Given the description of an element on the screen output the (x, y) to click on. 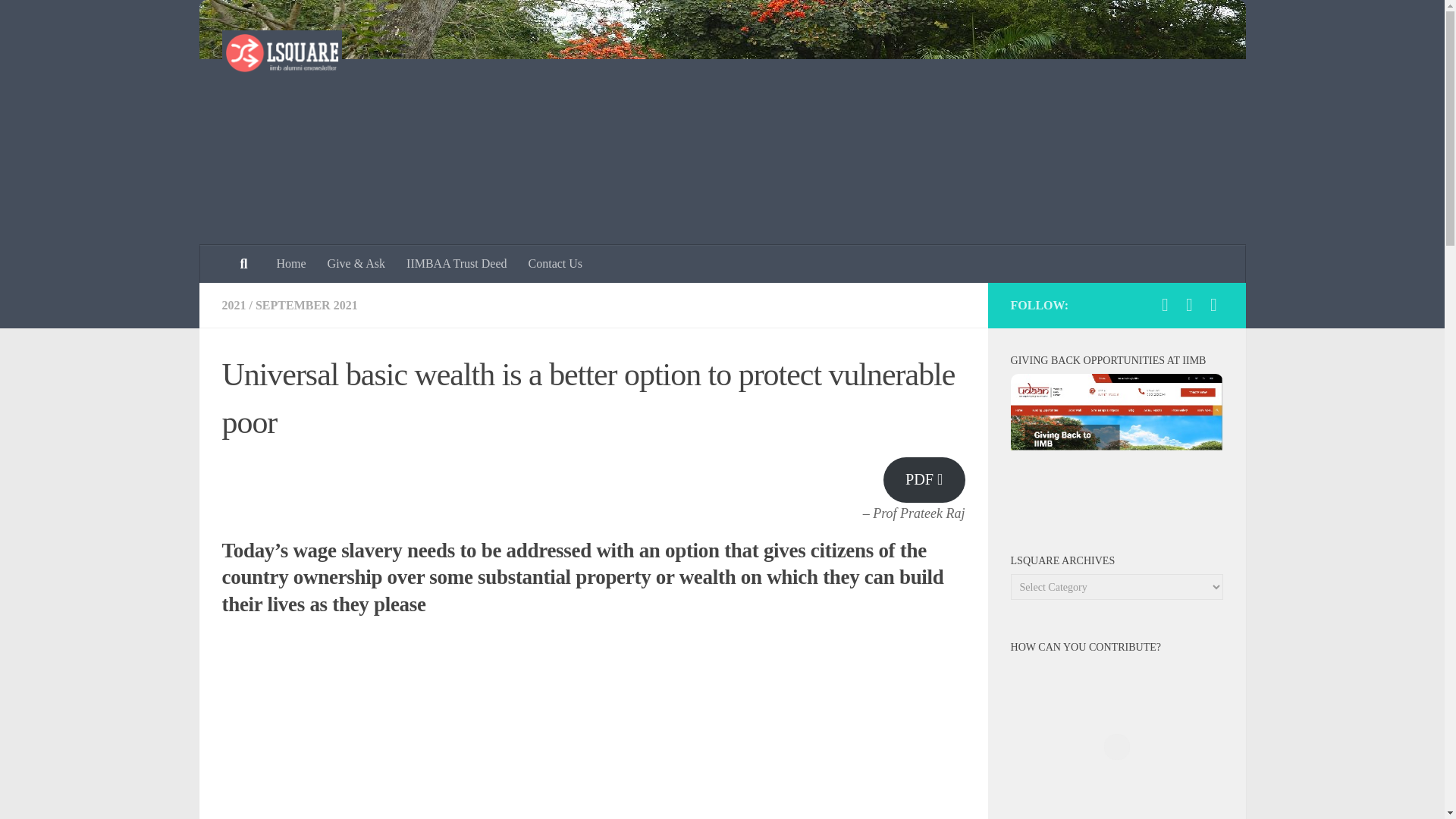
SEPTEMBER 2021 (307, 305)
Contact Us (556, 263)
2021 (233, 305)
Skip to content (59, 20)
Follow us on Facebook (1164, 304)
Follow us on Linkedin (1188, 304)
IIMBAA Trust Deed (456, 263)
Home (289, 263)
Follow us on Twitter (1213, 304)
